Given the description of an element on the screen output the (x, y) to click on. 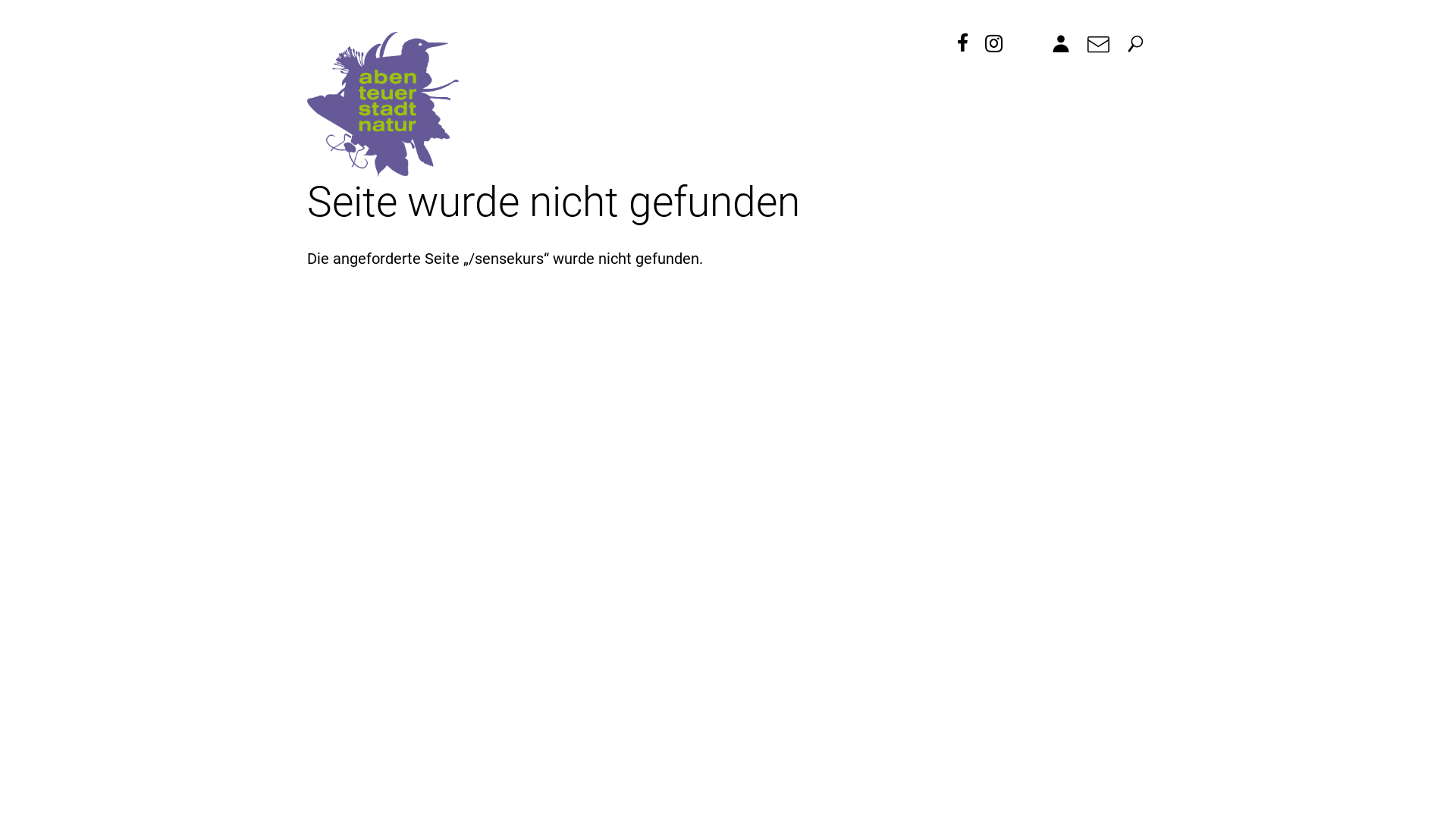
  Element type: text (965, 39)
Direkt zum Inhalt Element type: text (57, 0)
  Element type: text (996, 39)
Startseite Element type: hover (382, 103)
